Given the description of an element on the screen output the (x, y) to click on. 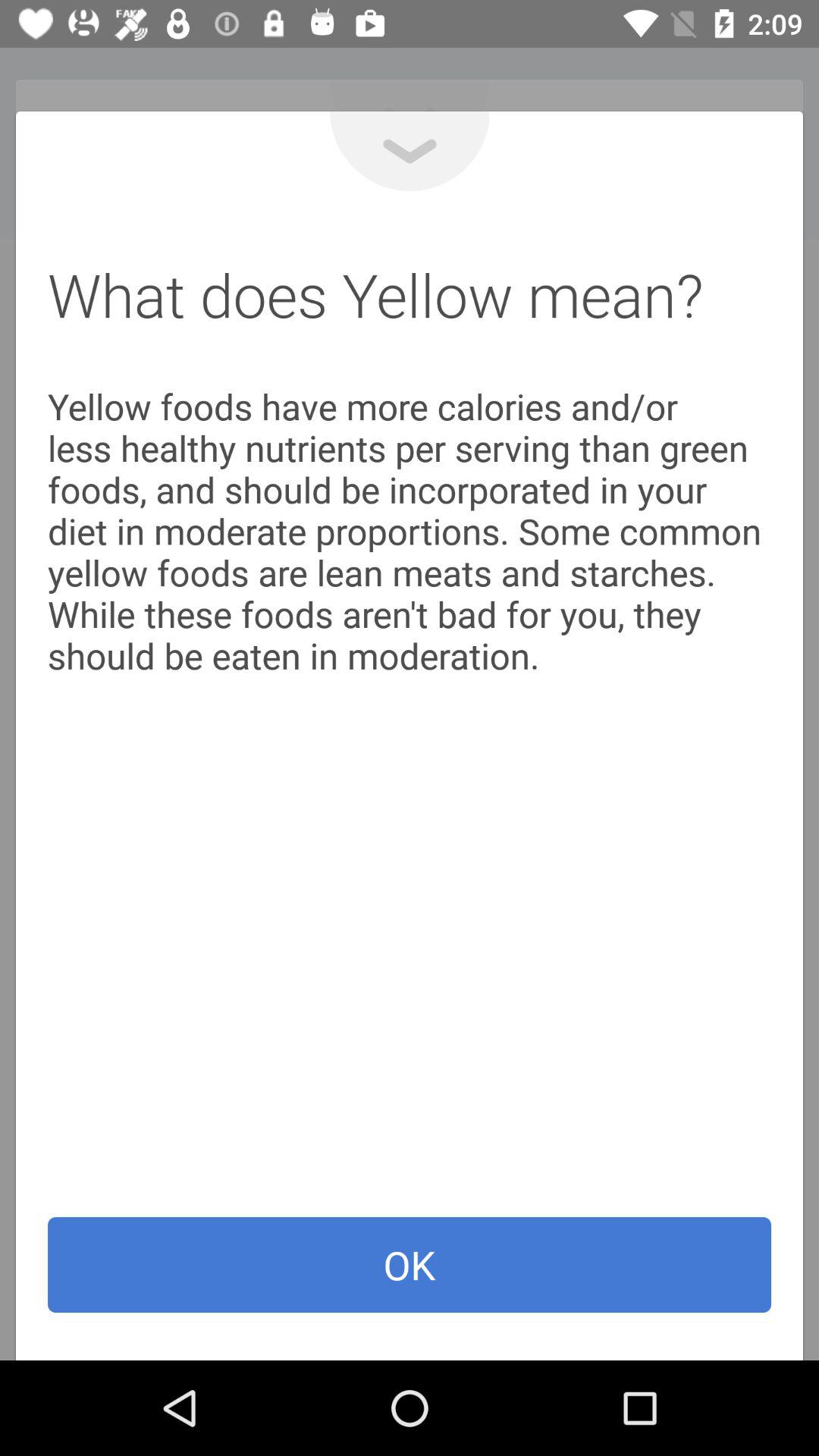
scroll to ok (409, 1264)
